Given the description of an element on the screen output the (x, y) to click on. 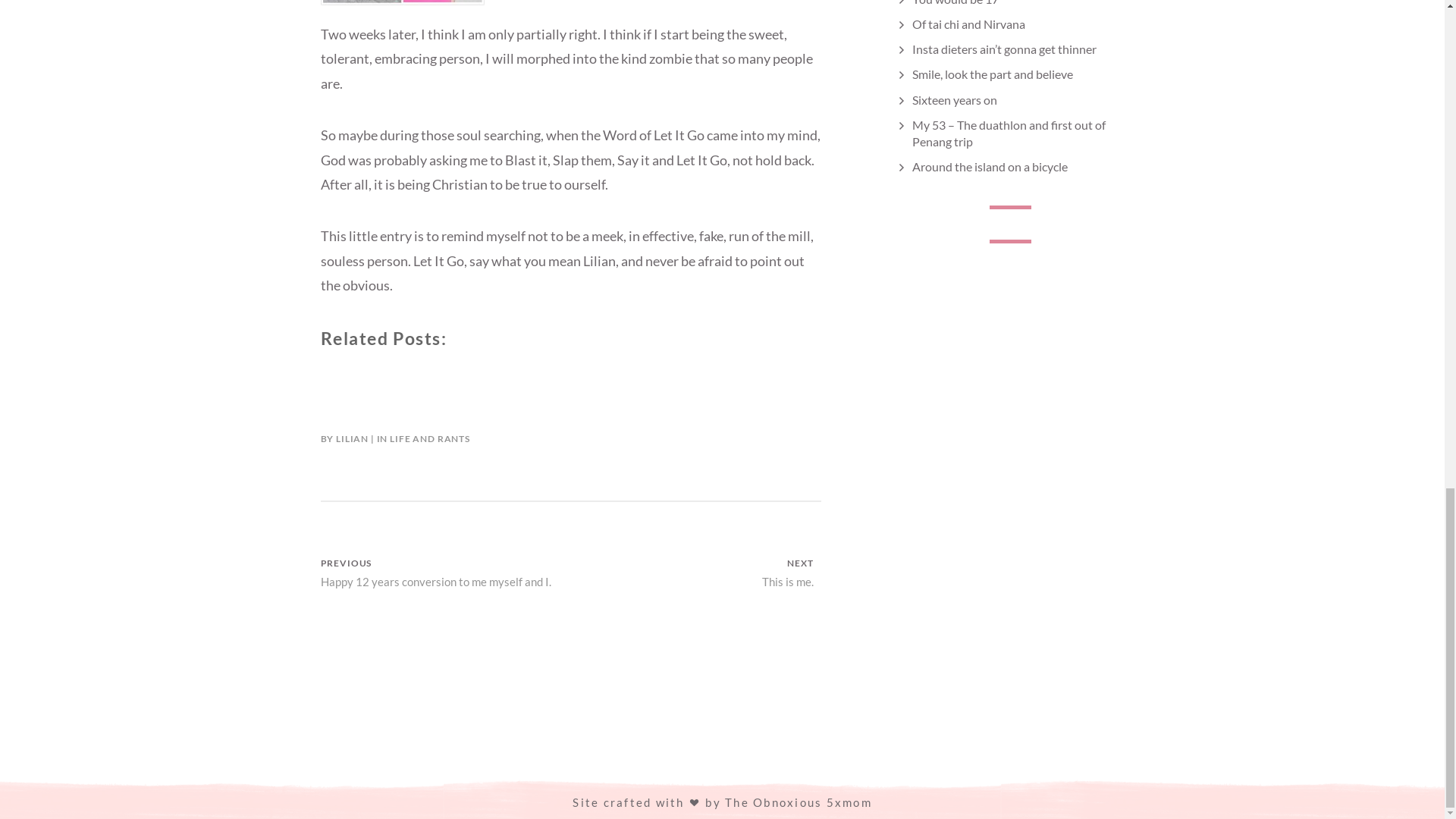
LILIAN (352, 438)
LIFE AND RANTS (695, 573)
